Given the description of an element on the screen output the (x, y) to click on. 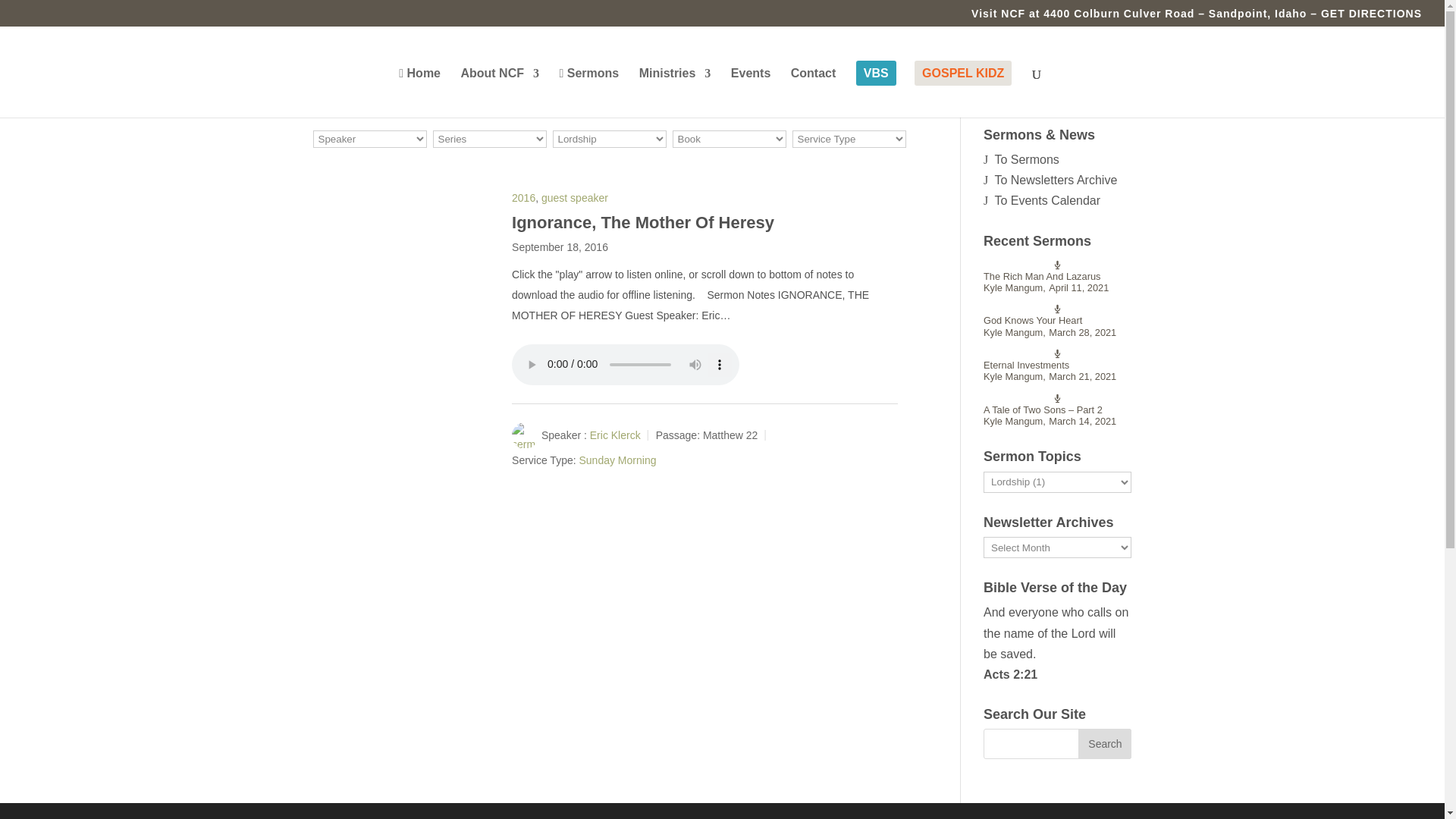
guest speaker (574, 197)
Topic (608, 139)
Ignorance, The Mother Of Heresy (643, 221)
God Knows Your Heart (1057, 312)
Contact (812, 92)
Eternal Investments (1057, 357)
About NCF (499, 92)
Sunday Morning (617, 460)
Sermons (588, 92)
God Knows Your Heart (1057, 312)
